Given the description of an element on the screen output the (x, y) to click on. 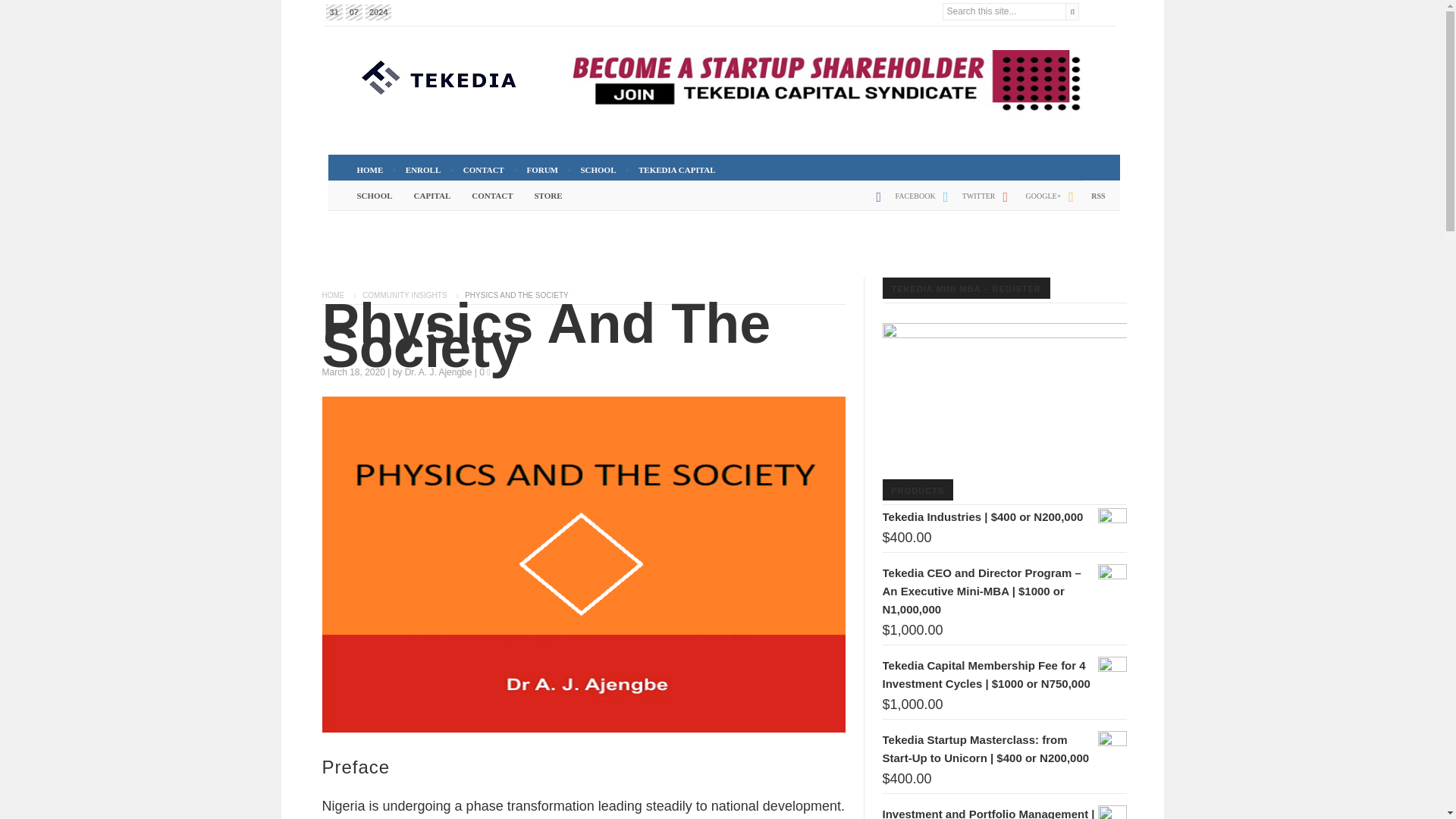
facebook (902, 201)
CONTACT (483, 169)
twitter (965, 201)
ENROLL (422, 169)
FORUM (542, 169)
HOME (369, 169)
google (1028, 201)
rss (1083, 201)
